Given the description of an element on the screen output the (x, y) to click on. 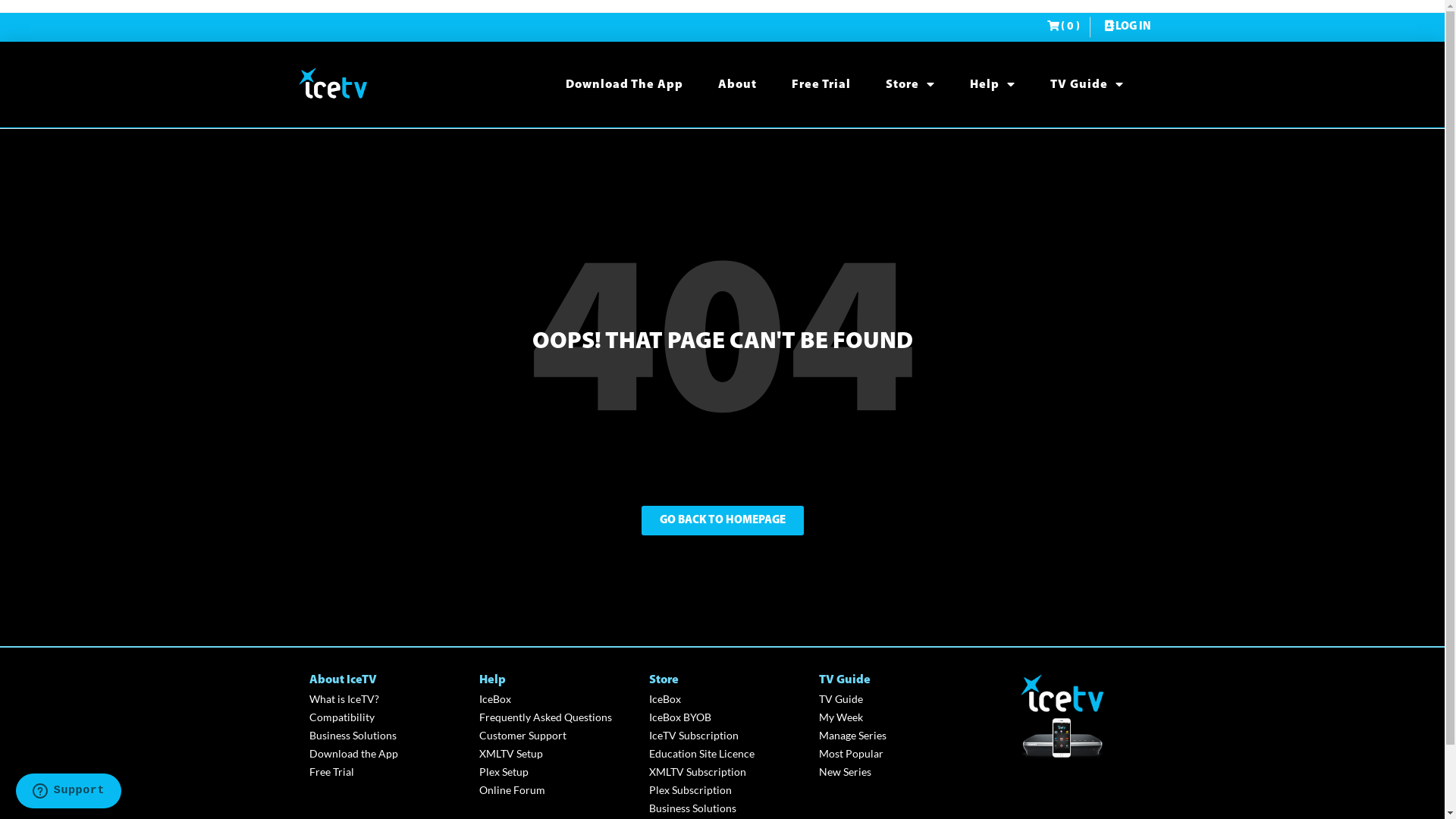
TV Guide Element type: text (896, 699)
Opens a widget where you can find more information Element type: hover (68, 792)
What is IceTV? Element type: text (386, 699)
Online Forum Element type: text (556, 790)
Manage Series Element type: text (896, 735)
Business Solutions Element type: text (726, 808)
Frequently Asked Questions Element type: text (556, 717)
LOG IN Element type: text (1126, 26)
Compatibility Element type: text (386, 717)
Business Solutions Element type: text (386, 735)
IceBox Element type: text (726, 699)
IceTV Subscription Element type: text (726, 735)
Help Element type: text (991, 84)
IceBox Element type: text (556, 699)
Free Trial Element type: text (821, 84)
About Element type: text (736, 84)
Free Trial Element type: text (386, 771)
Download The App Element type: text (624, 84)
Download the App Element type: text (386, 753)
Plex Setup Element type: text (556, 771)
XMLTV Subscription Element type: text (726, 771)
Education Site Licence Element type: text (726, 753)
XMLTV Setup Element type: text (556, 753)
Customer Support Element type: text (556, 735)
Most Popular Element type: text (896, 753)
GO BACK TO HOMEPAGE Element type: text (722, 520)
New Series Element type: text (896, 771)
Store Element type: text (910, 84)
My Week Element type: text (896, 717)
Plex Subscription Element type: text (726, 790)
TV Guide Element type: text (1086, 84)
( 0 ) Element type: text (1062, 26)
IceBox BYOB Element type: text (726, 717)
